Given the description of an element on the screen output the (x, y) to click on. 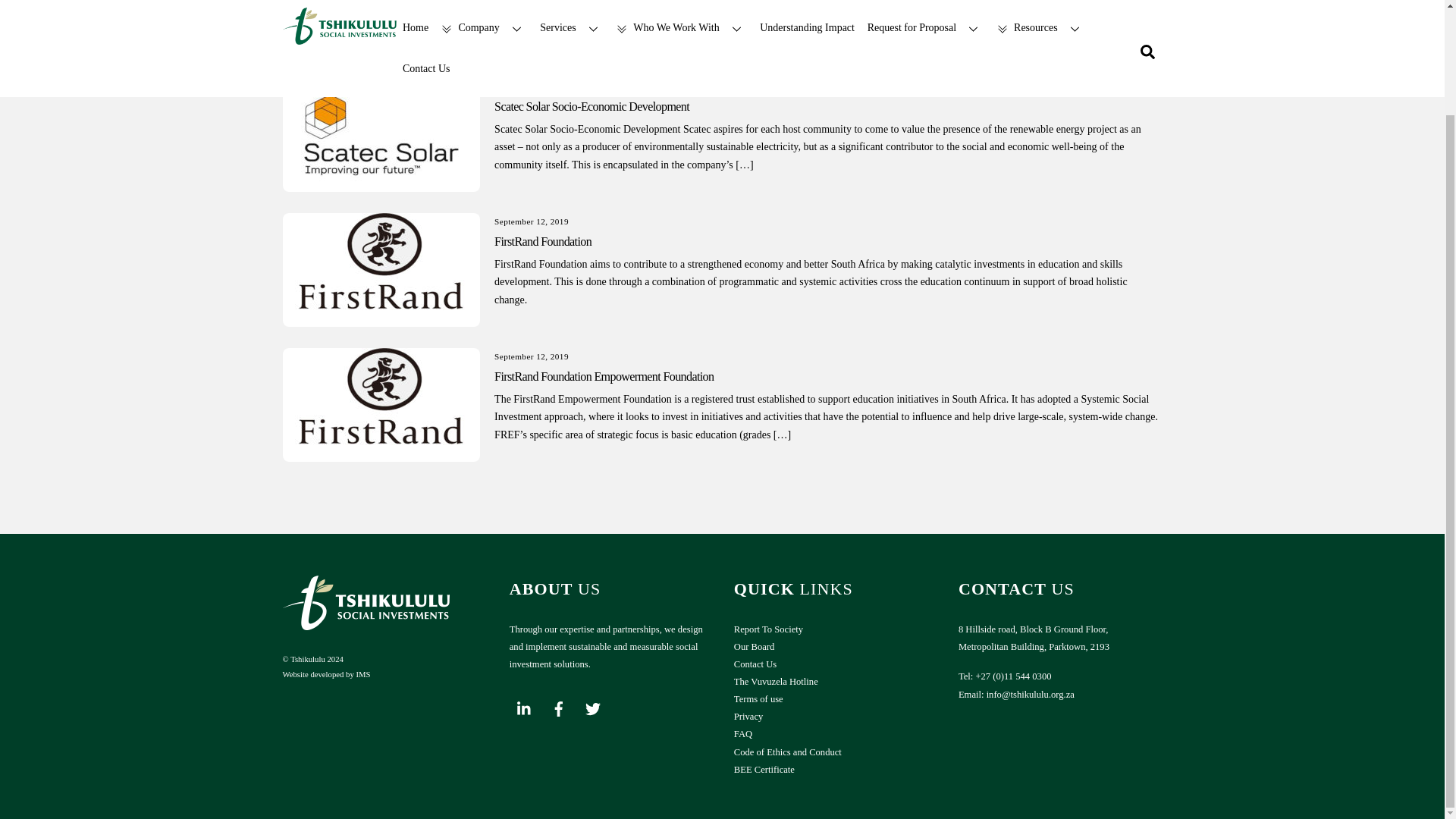
First-Rand-Logo (380, 404)
Tshikululu (365, 625)
Scatec-Solar (380, 134)
Scatec Solar Socio-Economic Development (591, 106)
First-Rand-Logo (380, 269)
